Given the description of an element on the screen output the (x, y) to click on. 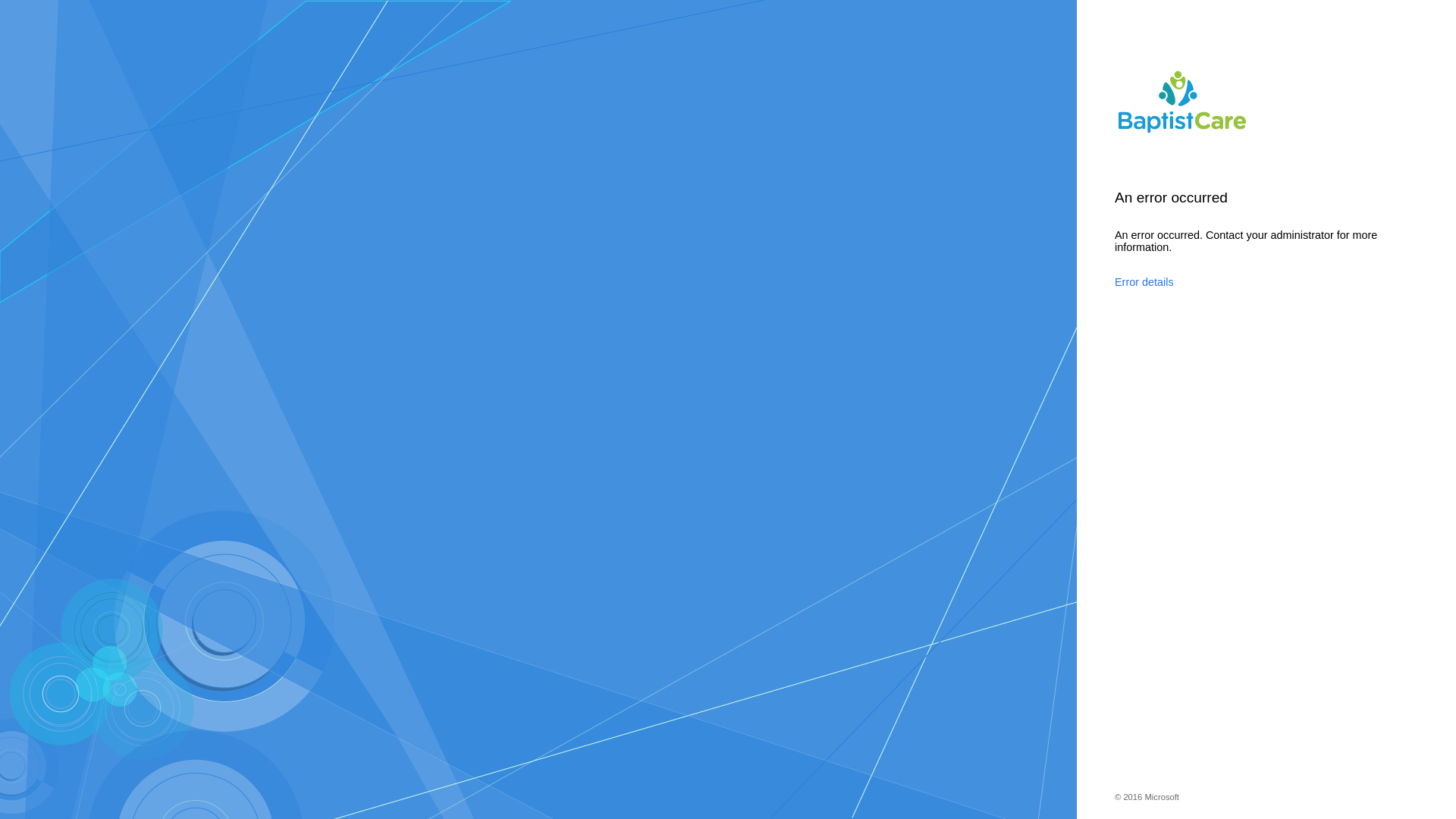
Error details Element type: text (1247, 282)
